Given the description of an element on the screen output the (x, y) to click on. 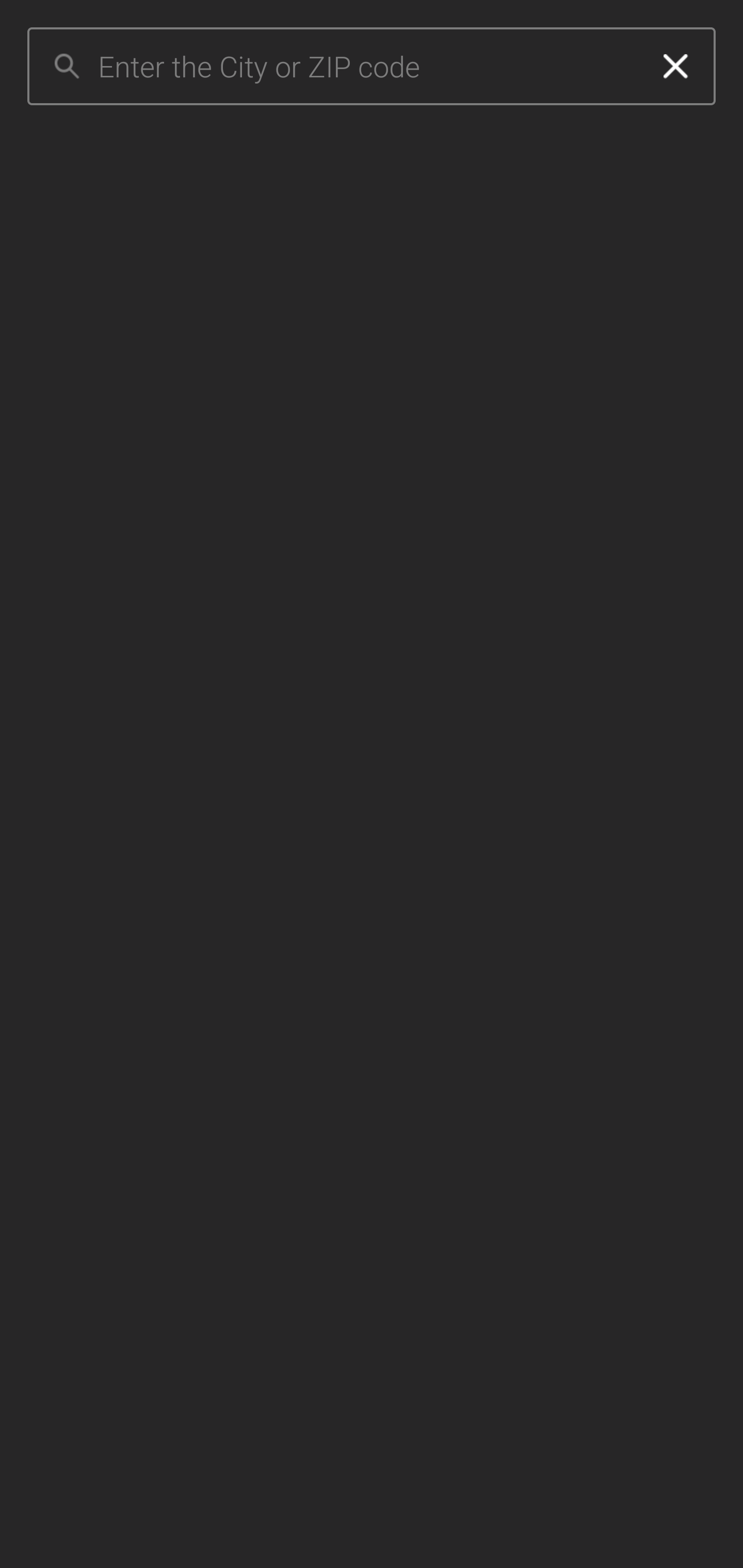
Enter the City or ZIP code (367, 66)
